Given the description of an element on the screen output the (x, y) to click on. 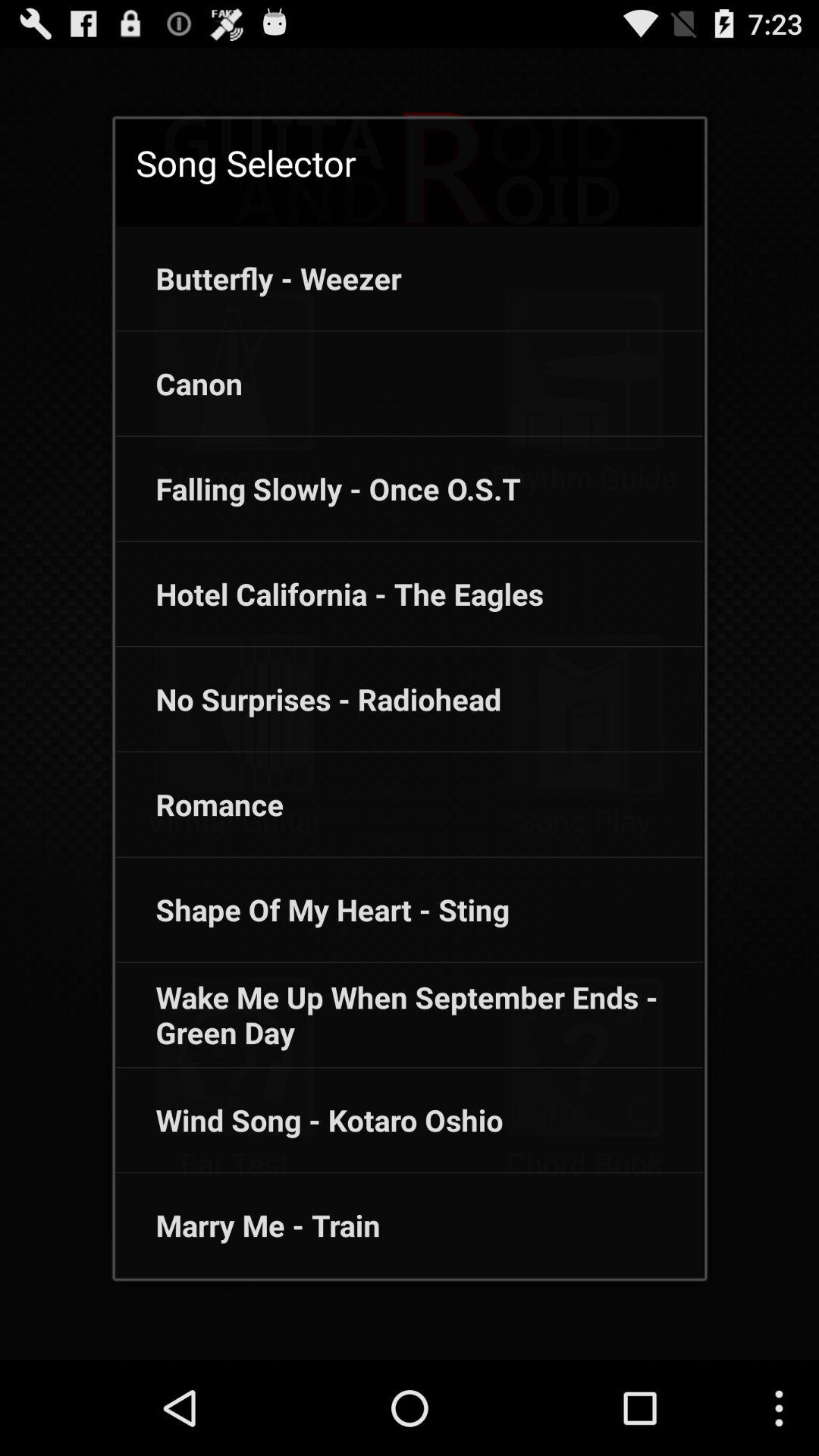
select the marry me - train (248, 1225)
